Given the description of an element on the screen output the (x, y) to click on. 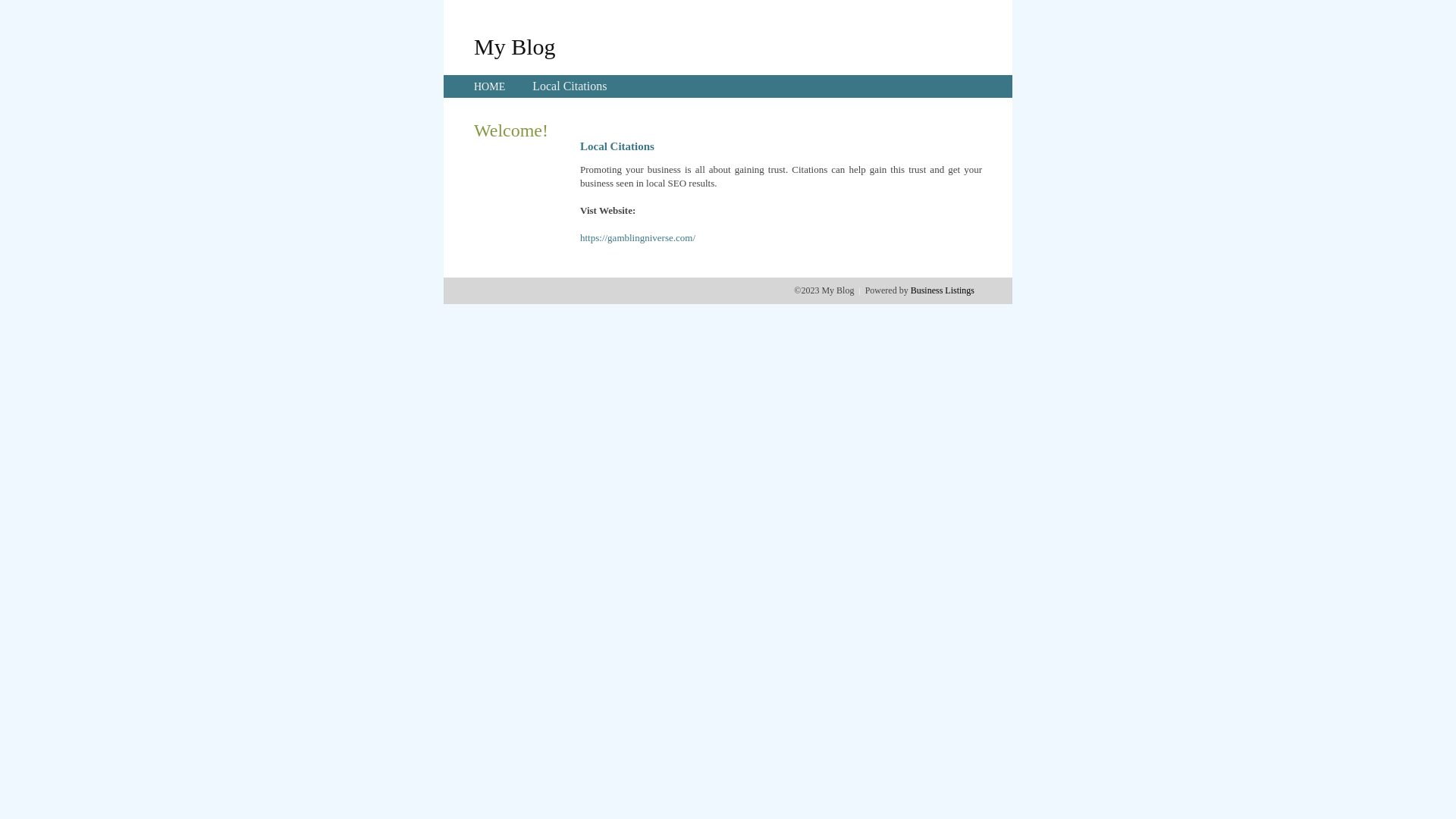
HOME Element type: text (489, 86)
Local Citations Element type: text (569, 85)
My Blog Element type: text (514, 46)
https://gamblingniverse.com/ Element type: text (637, 237)
Business Listings Element type: text (942, 290)
